Given the description of an element on the screen output the (x, y) to click on. 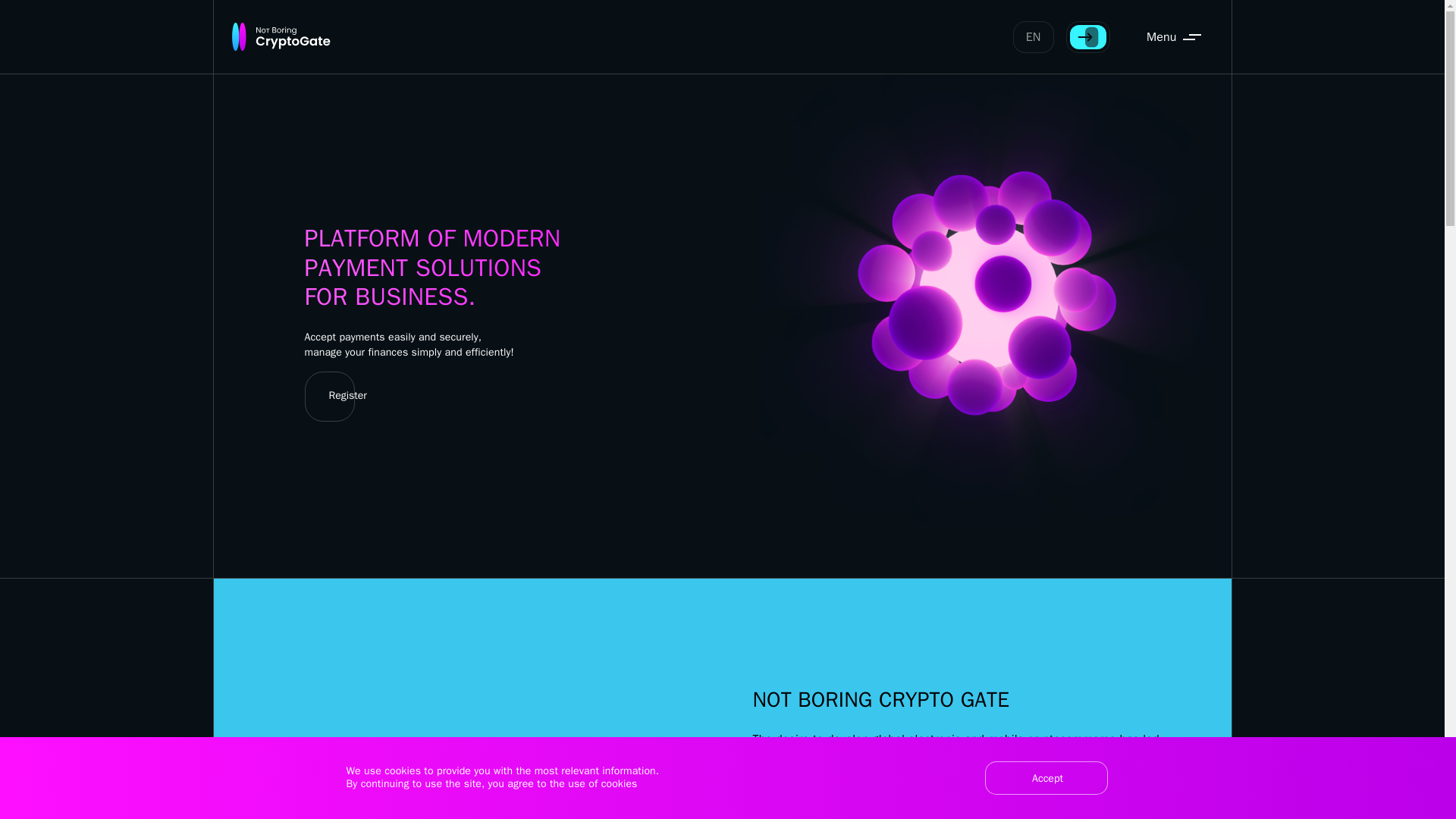
EN (1033, 37)
Register (342, 396)
